Given the description of an element on the screen output the (x, y) to click on. 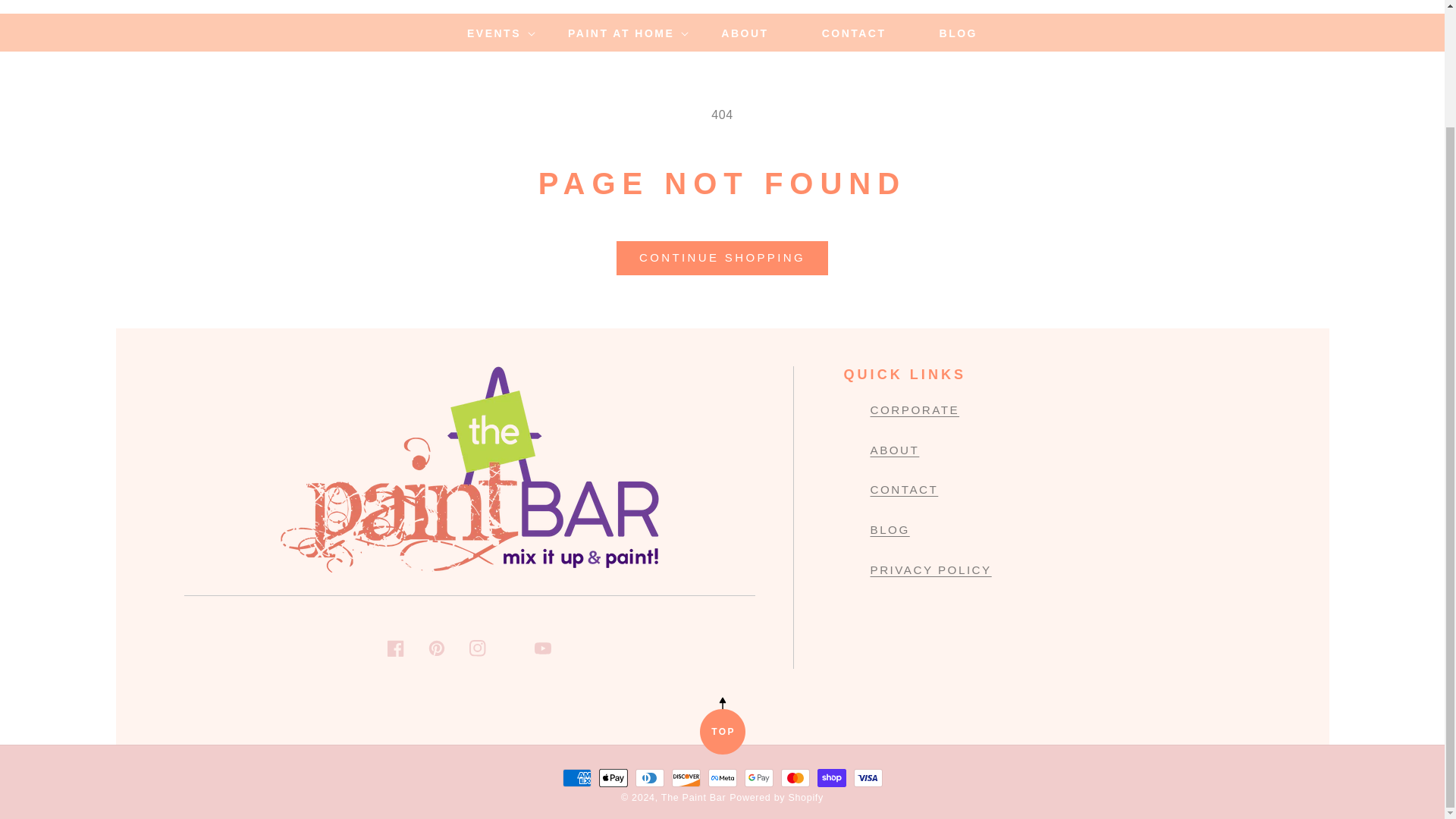
TOP (721, 731)
CONTACT (853, 33)
TOP (721, 731)
ABOUT (744, 33)
BLOG (958, 33)
